Given the description of an element on the screen output the (x, y) to click on. 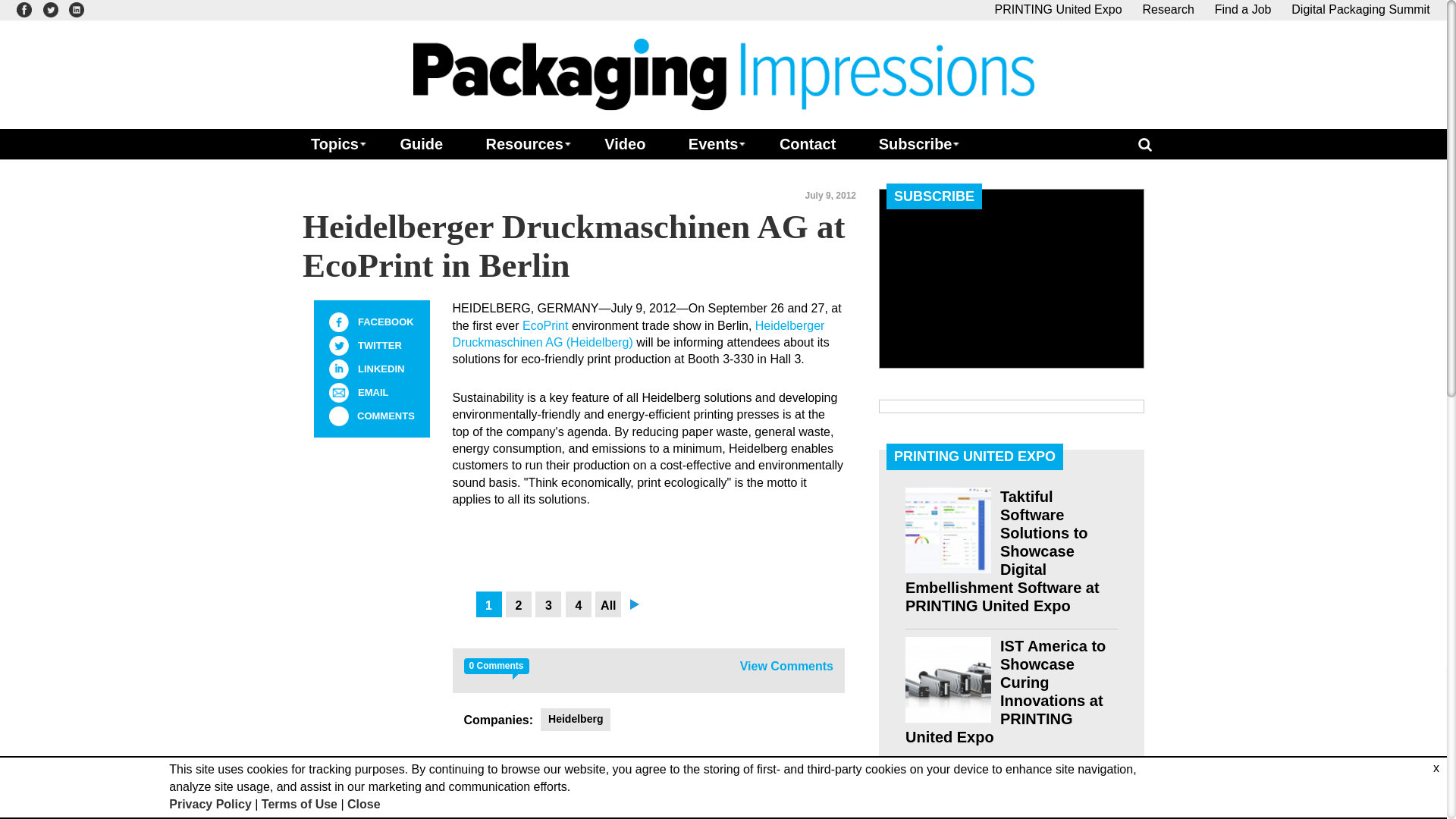
Opens in a new window (76, 9)
Opens in a new window (637, 333)
Events (712, 143)
Topics (333, 143)
Guide (420, 143)
LinkedIn (339, 369)
Facebook (339, 322)
Opens in a new window (544, 325)
Opens in a new window (24, 9)
Find a Job (1242, 9)
